Given the description of an element on the screen output the (x, y) to click on. 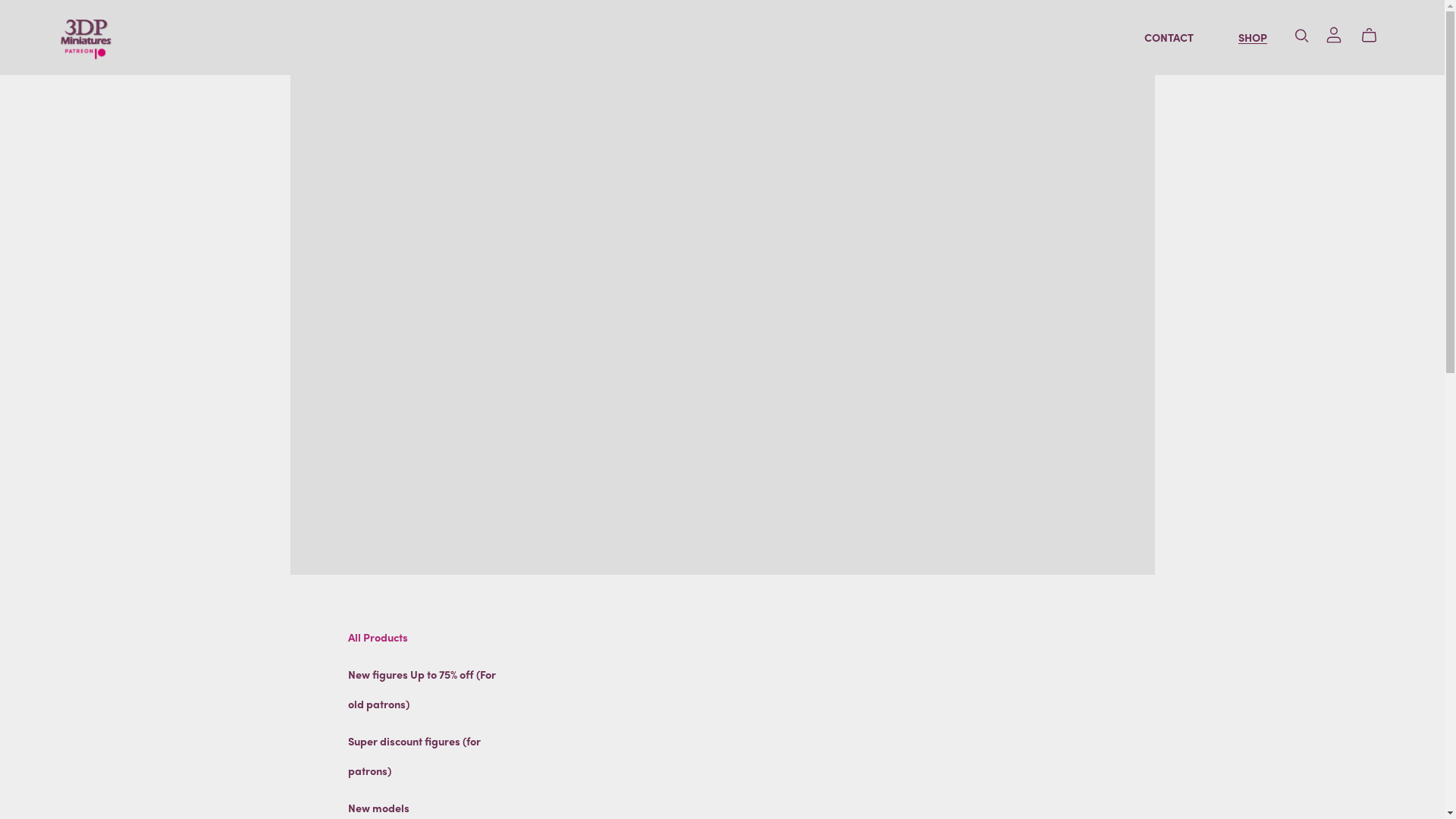
SHOP Element type: text (1252, 37)
New models Element type: text (378, 807)
Super discount figures (for patrons) Element type: text (414, 755)
New figures Up to 75% off (For old patrons) Element type: text (421, 688)
CONTACT Element type: text (1168, 37)
All Products Element type: text (377, 636)
